Given the description of an element on the screen output the (x, y) to click on. 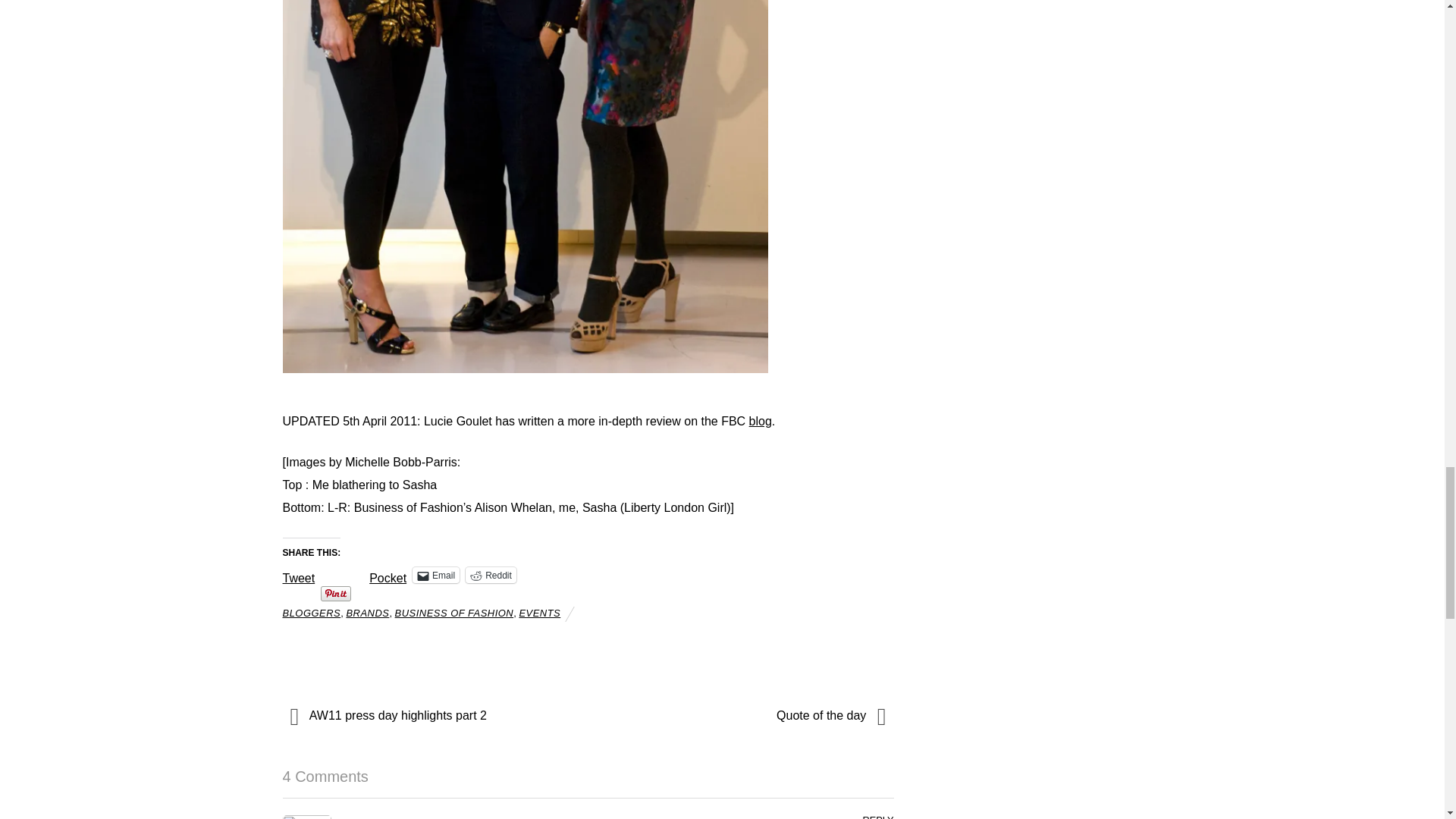
Tweet (298, 573)
Click to share on Reddit (490, 575)
REPLY (877, 816)
Click to email a link to a friend (436, 575)
AW11 press day highlights part 2 (425, 716)
Pocket (387, 577)
BRANDS (367, 613)
Quote of the day (750, 716)
blog (760, 420)
